Given the description of an element on the screen output the (x, y) to click on. 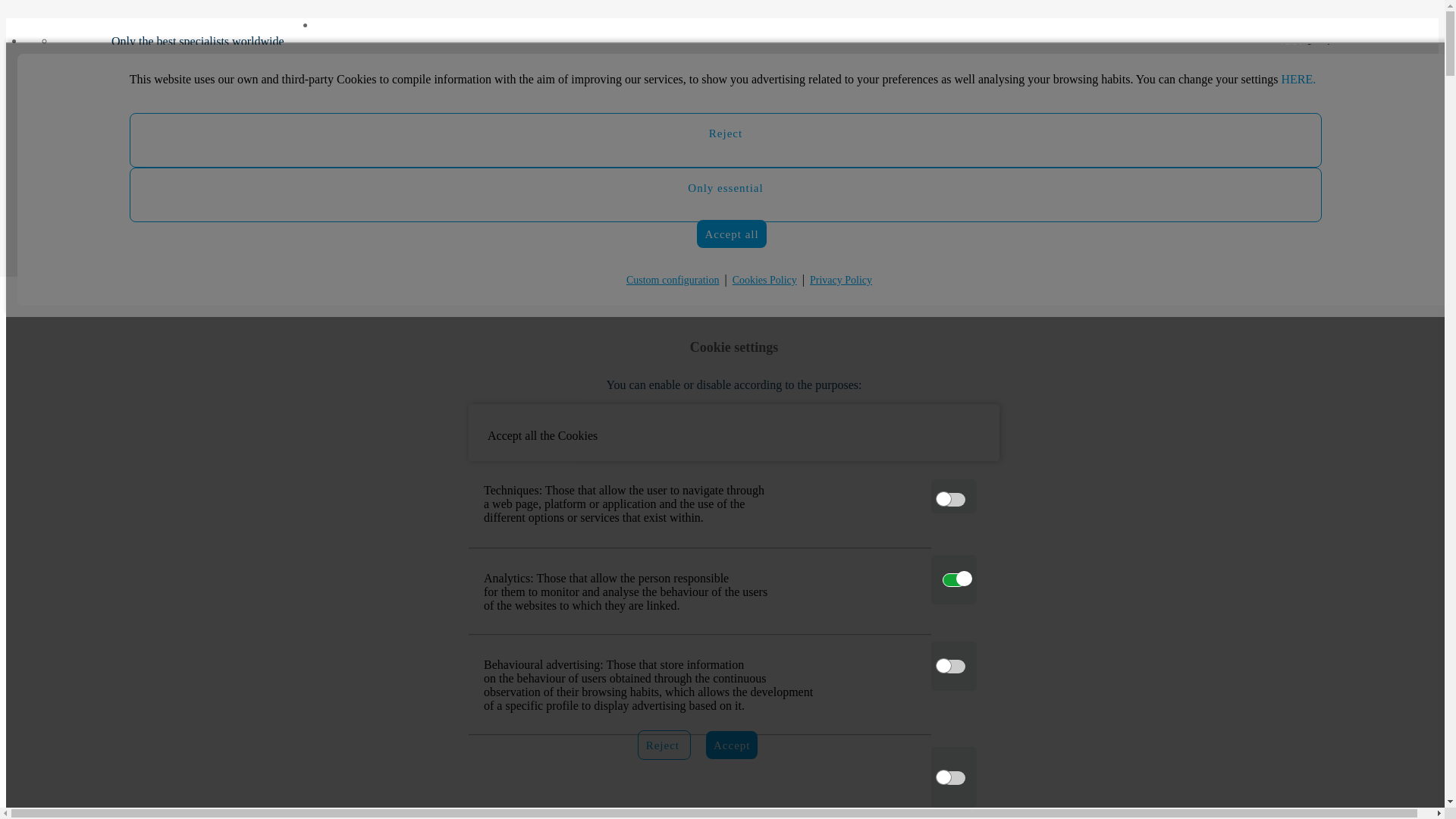
Dentists (200, 198)
United States (200, 579)
I am a healthcare professional (1353, 179)
I'm a patient (812, 328)
Medical insurance (200, 281)
I'm a doctor (810, 63)
Register (836, 313)
Login (860, 280)
Medical articles (200, 320)
e-Consultation (200, 395)
